Given the description of an element on the screen output the (x, y) to click on. 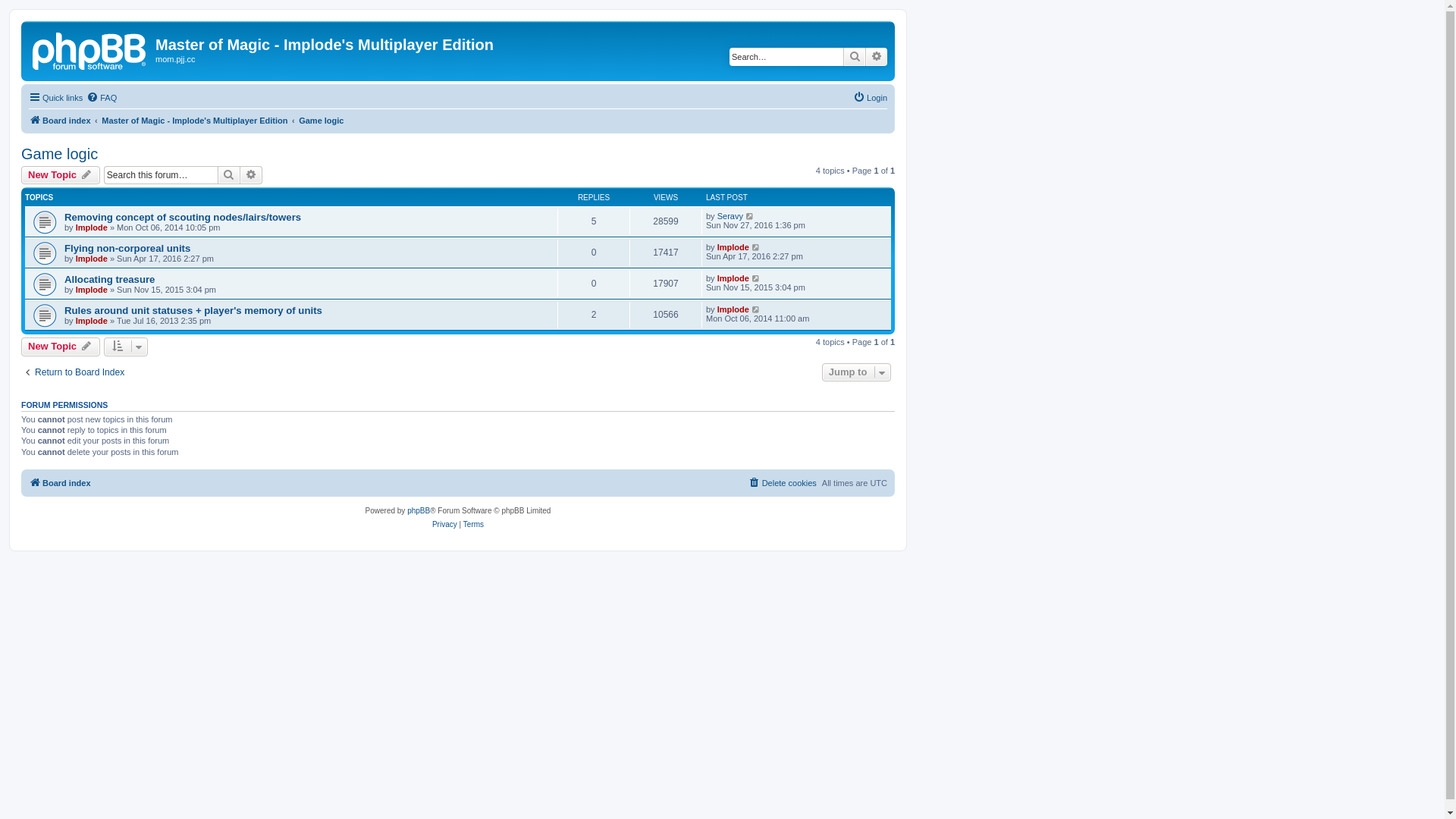
Master of Magic - Implode's Multiplayer Edition Element type: text (194, 120)
Implode Element type: text (91, 227)
Search for keywords Element type: hover (786, 56)
Privacy Element type: text (444, 524)
Go to last post Element type: hover (756, 246)
Display and sorting options Element type: hover (125, 346)
Implode Element type: text (91, 320)
Rules around unit statuses + player's memory of units Element type: text (193, 310)
Terms Element type: text (473, 524)
Allocating treasure Element type: text (109, 279)
Advanced search Element type: text (876, 56)
New Topic Element type: text (60, 175)
Quick links Element type: text (55, 97)
Advanced search Element type: text (251, 175)
FAQ Element type: text (101, 97)
Seravy Element type: text (730, 215)
Search Element type: text (228, 175)
Board index Element type: text (59, 120)
Search Element type: text (854, 56)
Implode Element type: text (733, 246)
Return to Board Index Element type: text (72, 373)
Board index Element type: hover (90, 49)
Game logic Element type: text (59, 154)
Go to last post Element type: hover (756, 277)
Game logic Element type: text (320, 120)
Implode Element type: text (733, 277)
Implode Element type: text (733, 308)
Login Element type: text (870, 97)
Implode Element type: text (91, 289)
Go to last post Element type: hover (750, 215)
Delete cookies Element type: text (782, 482)
Go to last post Element type: hover (756, 308)
phpBB Element type: text (418, 510)
Removing concept of scouting nodes/lairs/towers Element type: text (182, 216)
Flying non-corporeal units Element type: text (127, 248)
Board index Element type: text (59, 482)
Implode Element type: text (91, 258)
New Topic Element type: text (60, 346)
